Given the description of an element on the screen output the (x, y) to click on. 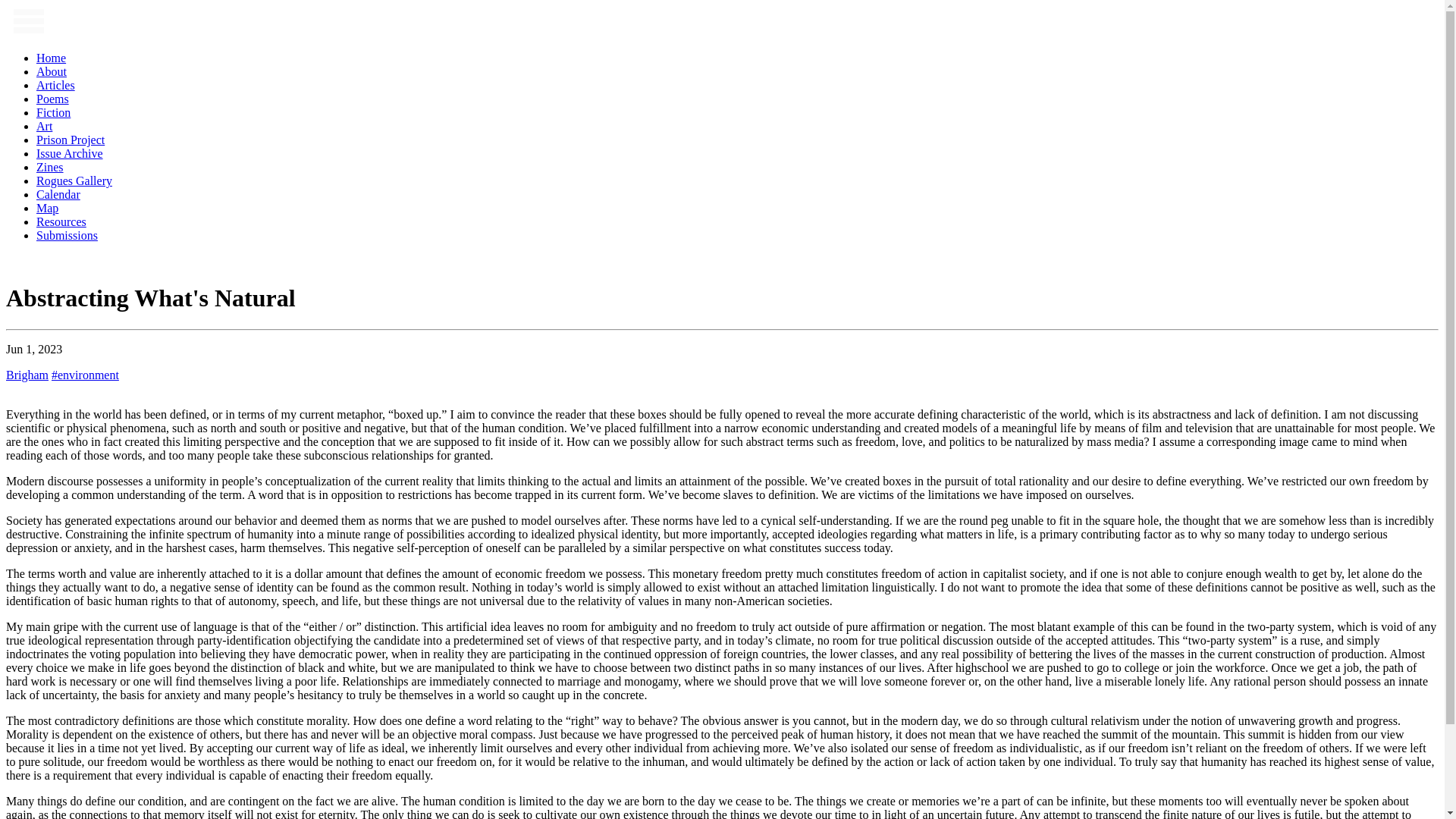
Zines (50, 166)
Rogues Gallery (74, 180)
Issue Archive (69, 153)
Articles (55, 84)
Prison Project (70, 139)
About (51, 71)
Fiction (52, 112)
Hamburger menu button (28, 20)
Submissions (66, 235)
Brigham (26, 374)
